Given the description of an element on the screen output the (x, y) to click on. 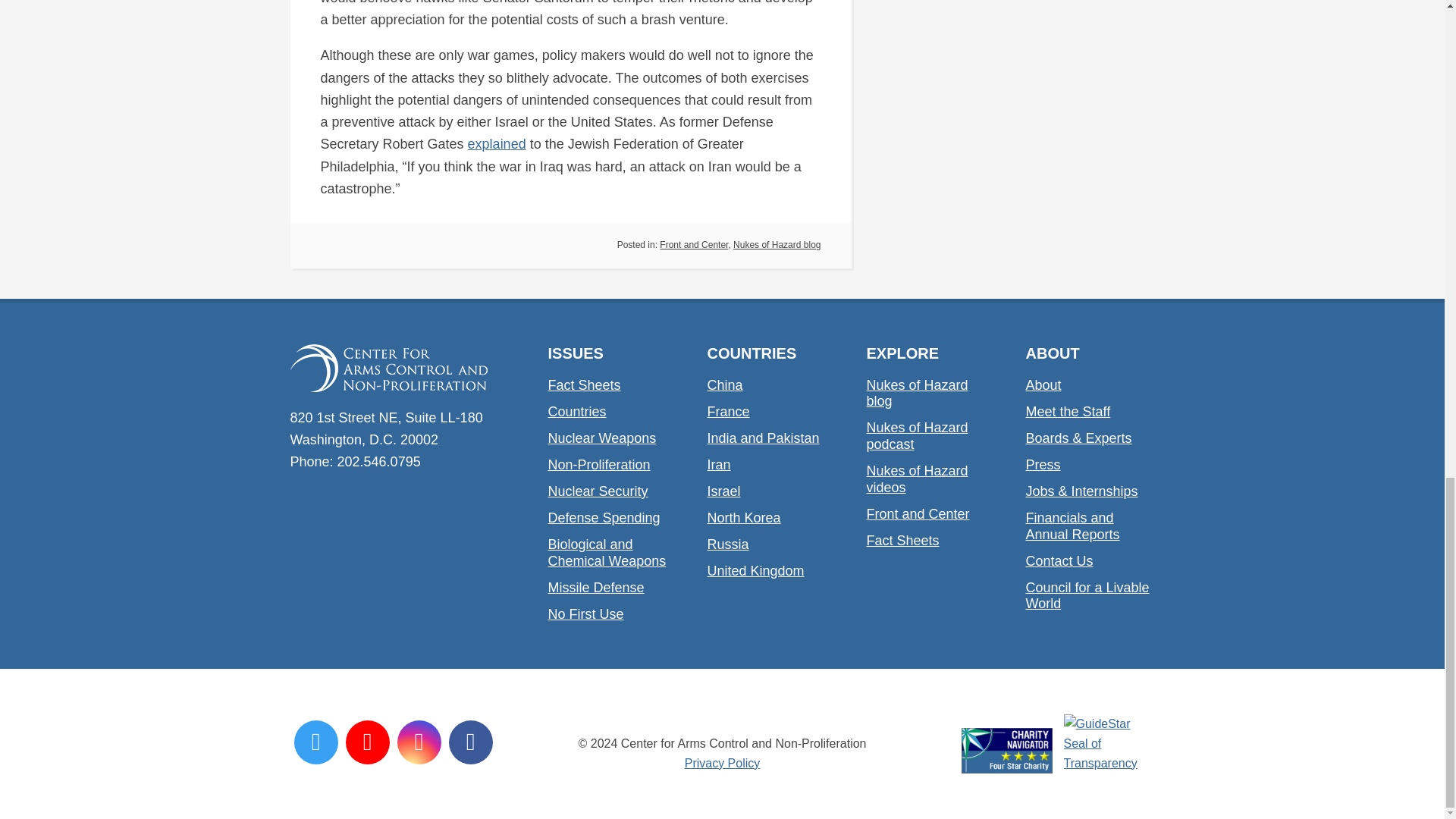
explained (496, 143)
